Given the description of an element on the screen output the (x, y) to click on. 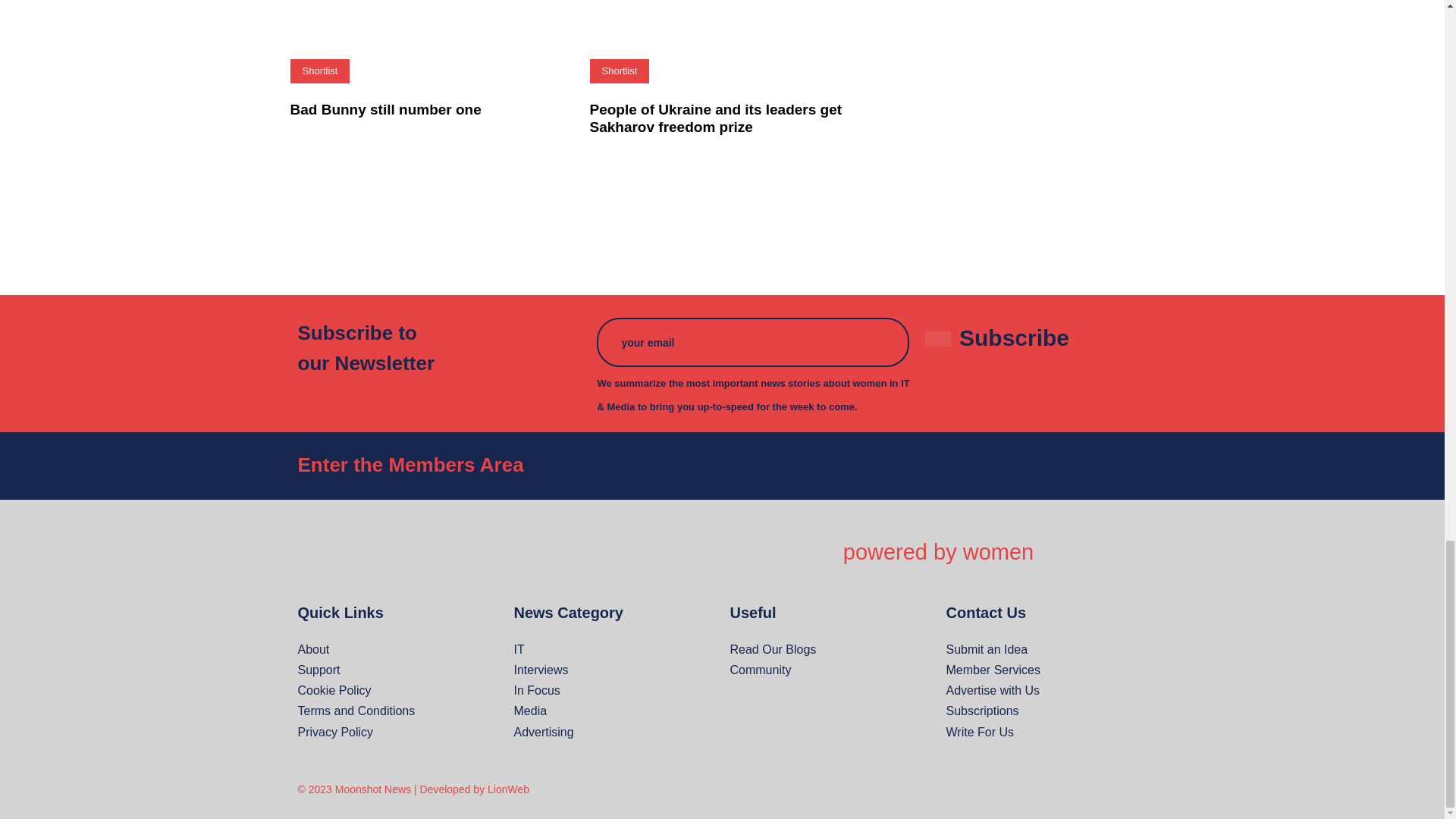
Subscribe (1014, 337)
